Given the description of an element on the screen output the (x, y) to click on. 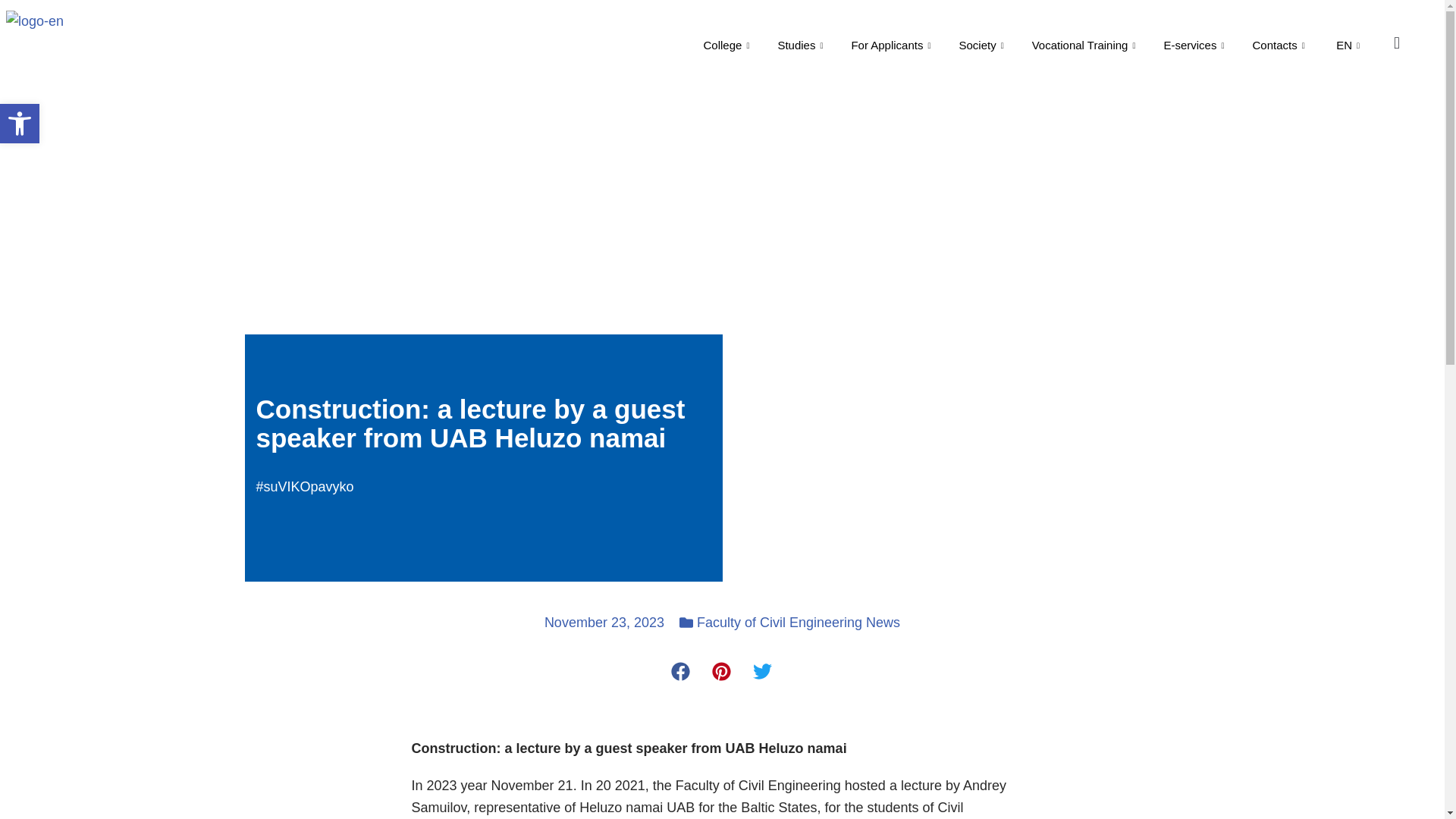
logo-en (245, 44)
Accessibility tools (19, 123)
EN (19, 123)
Accessibility tools (1348, 45)
